Given the description of an element on the screen output the (x, y) to click on. 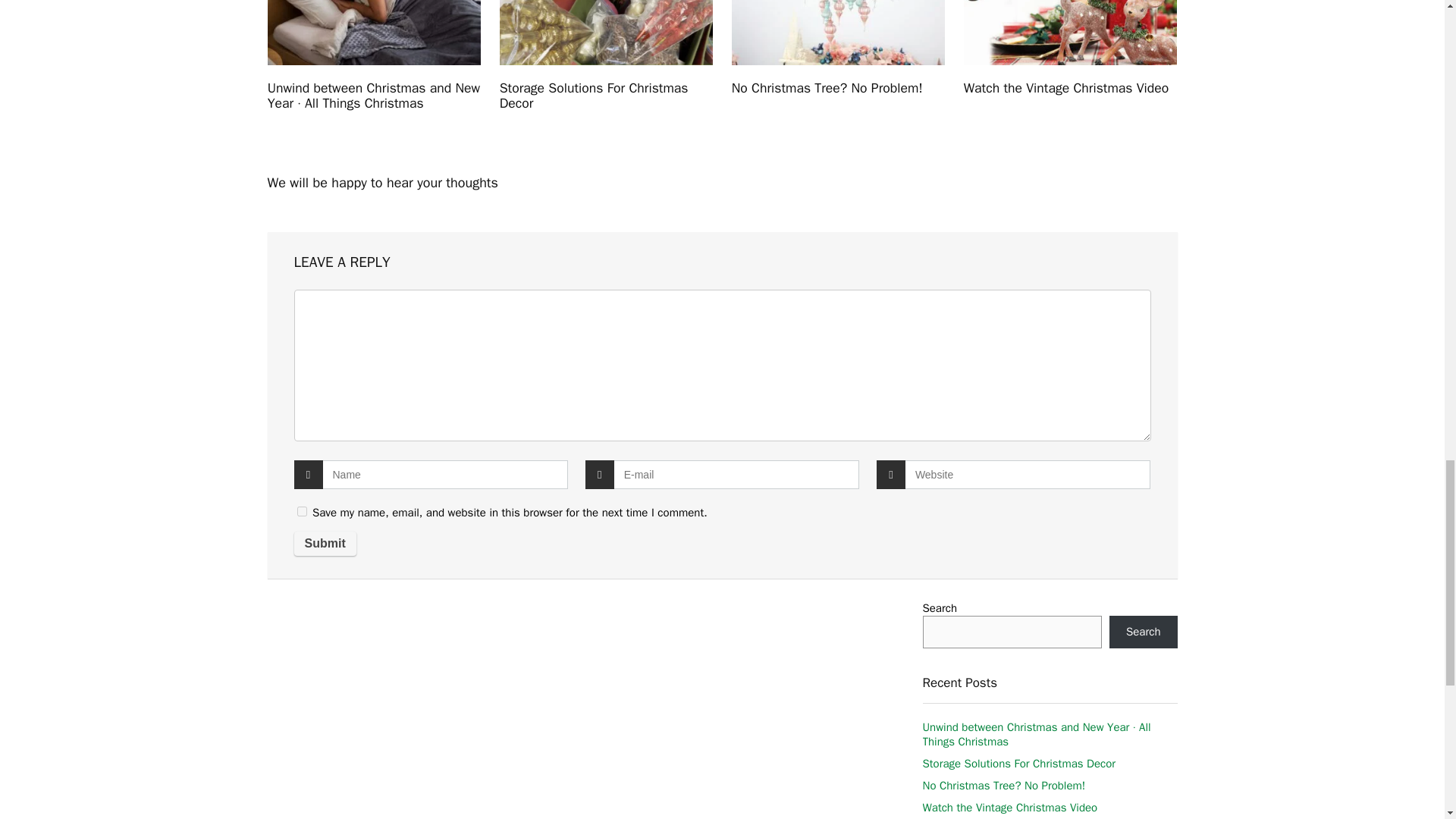
Submit (325, 543)
Watch the Vintage Christmas Video (1009, 807)
No Christmas Tree? No Problem! (827, 87)
No Christmas Tree? No Problem! (1002, 785)
Watch the Vintage Christmas Video (1066, 87)
Submit (325, 543)
Search (1143, 631)
Storage Solutions For Christmas Decor (593, 95)
yes (302, 511)
Storage Solutions For Christmas Decor (1018, 763)
